Given the description of an element on the screen output the (x, y) to click on. 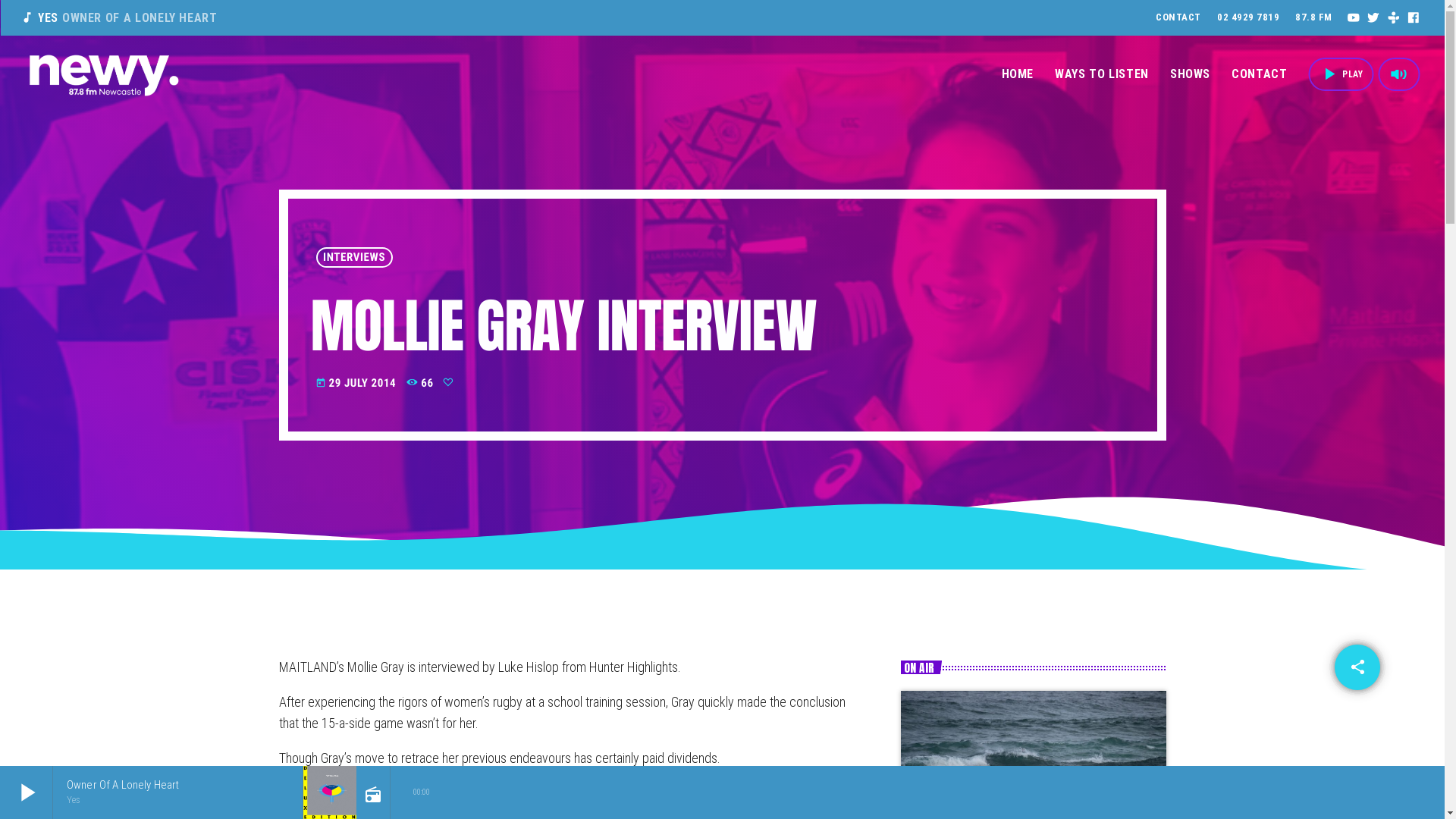
WAYS TO LISTEN Element type: text (1101, 74)
CONTACT Element type: text (1178, 17)
CONTACT Element type: text (1258, 74)
HOME Element type: text (1016, 74)
INTERVIEWS Element type: text (353, 257)
play_arrow
PLAY Element type: text (1340, 74)
email Element type: text (1357, 667)
CLASSIC HITS Element type: text (953, 779)
02 4929 7819 Element type: text (1247, 17)
87.8 FM Element type: text (1313, 17)
SHOWS Element type: text (1190, 74)
